Given the description of an element on the screen output the (x, y) to click on. 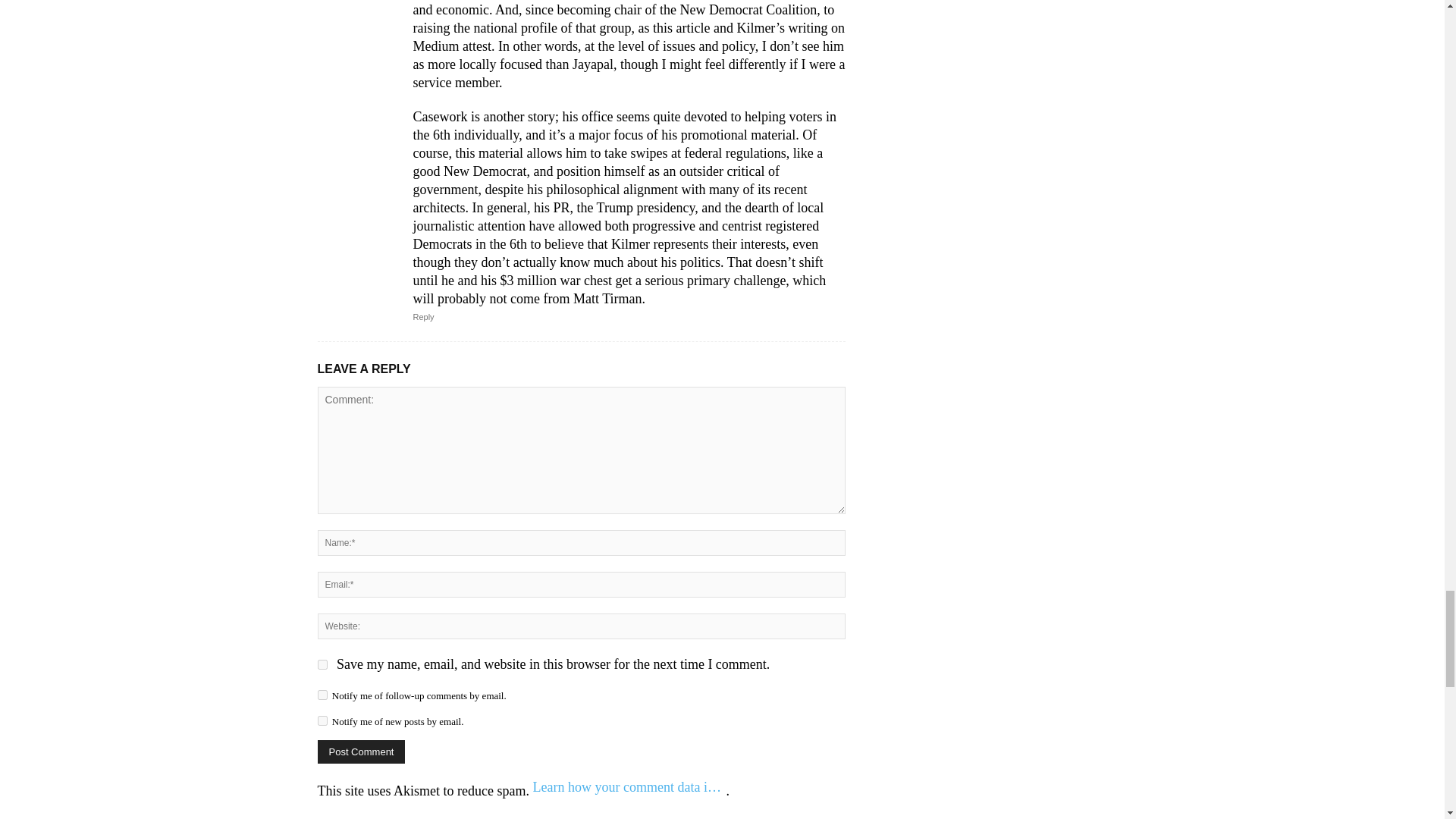
subscribe (321, 720)
yes (321, 664)
Post Comment (360, 751)
subscribe (321, 695)
